Given the description of an element on the screen output the (x, y) to click on. 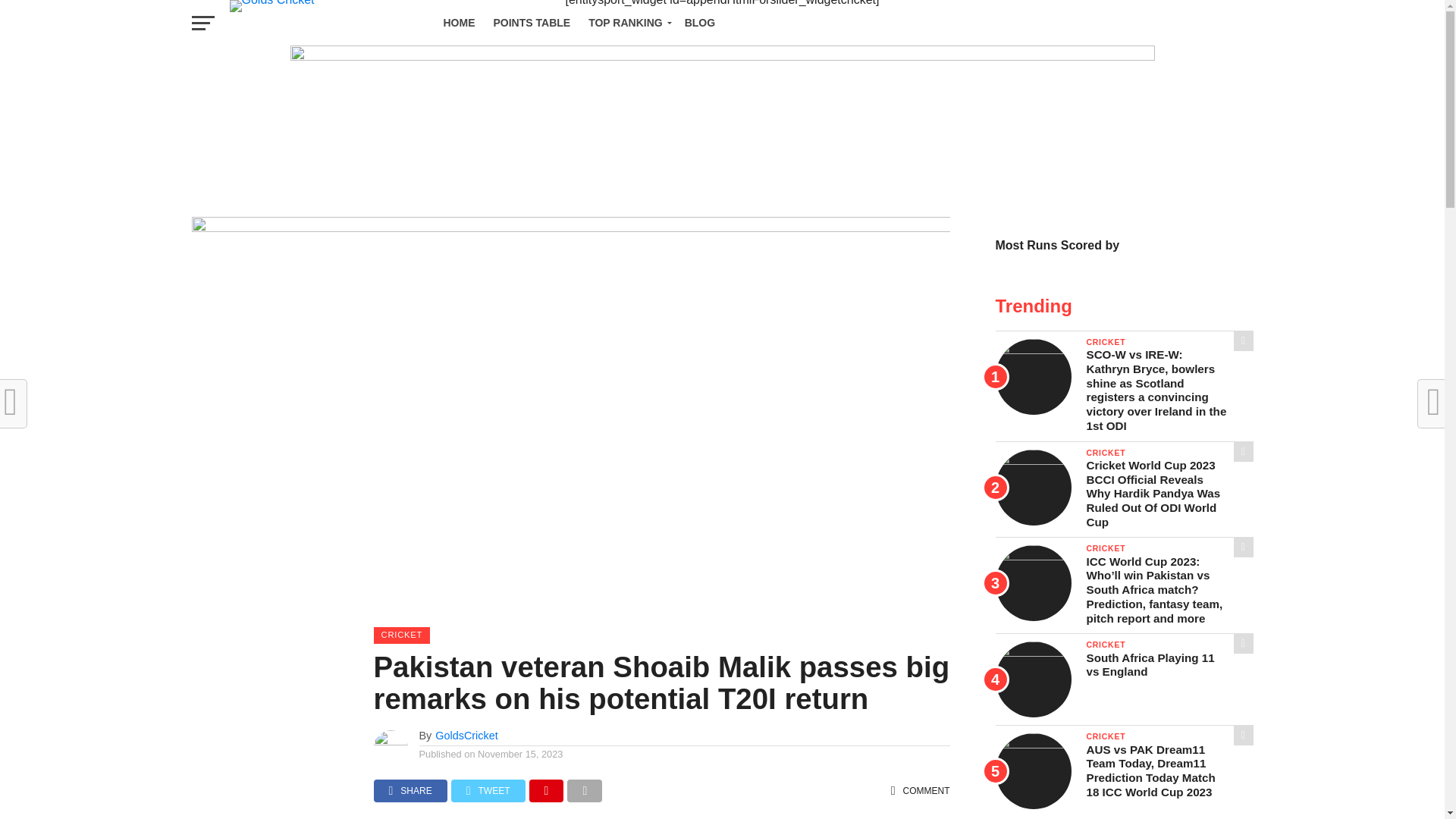
BLOG (699, 22)
POINTS TABLE (531, 22)
TOP RANKING (627, 22)
Posts by GoldsCricket (466, 735)
HOME (458, 22)
GoldsCricket (466, 735)
